Given the description of an element on the screen output the (x, y) to click on. 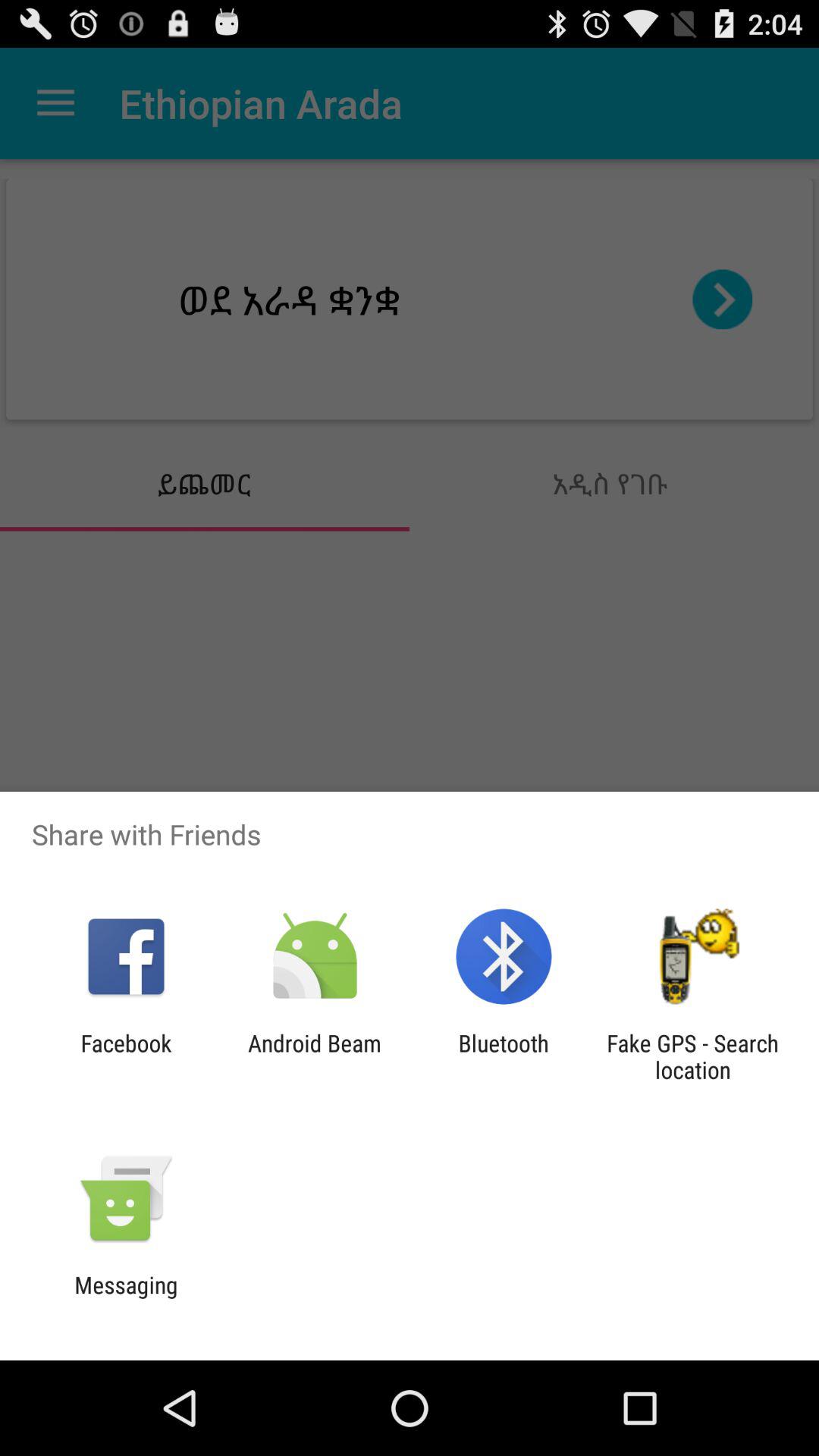
swipe to fake gps search item (692, 1056)
